Given the description of an element on the screen output the (x, y) to click on. 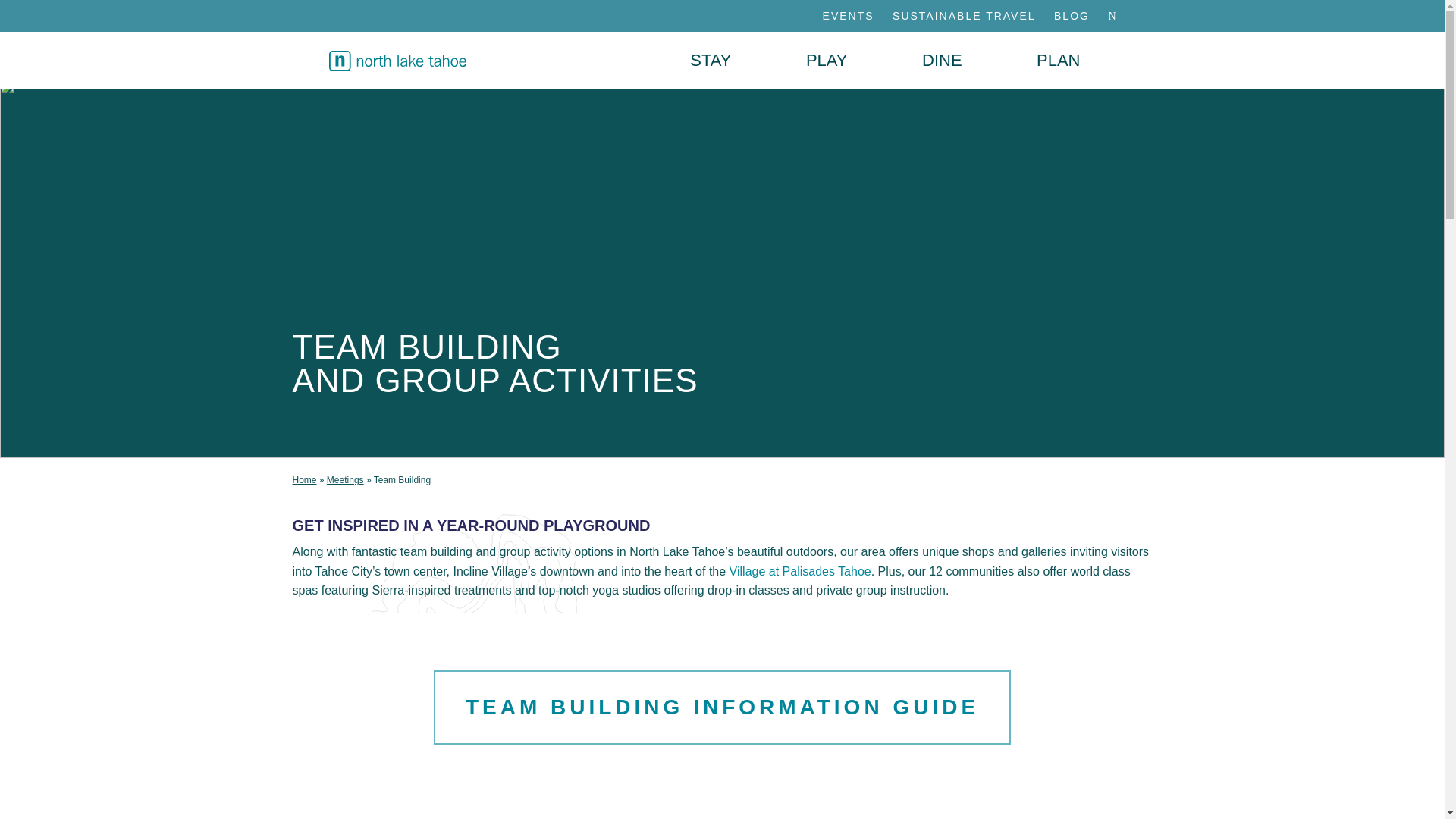
Events (848, 15)
Stay (710, 60)
Sustainable Travel (964, 15)
Go Tahoe North (398, 60)
STAY (710, 60)
Blog (1071, 15)
EVENTS (848, 15)
BLOG (1071, 15)
PLAY (826, 60)
DINE (941, 60)
